Given the description of an element on the screen output the (x, y) to click on. 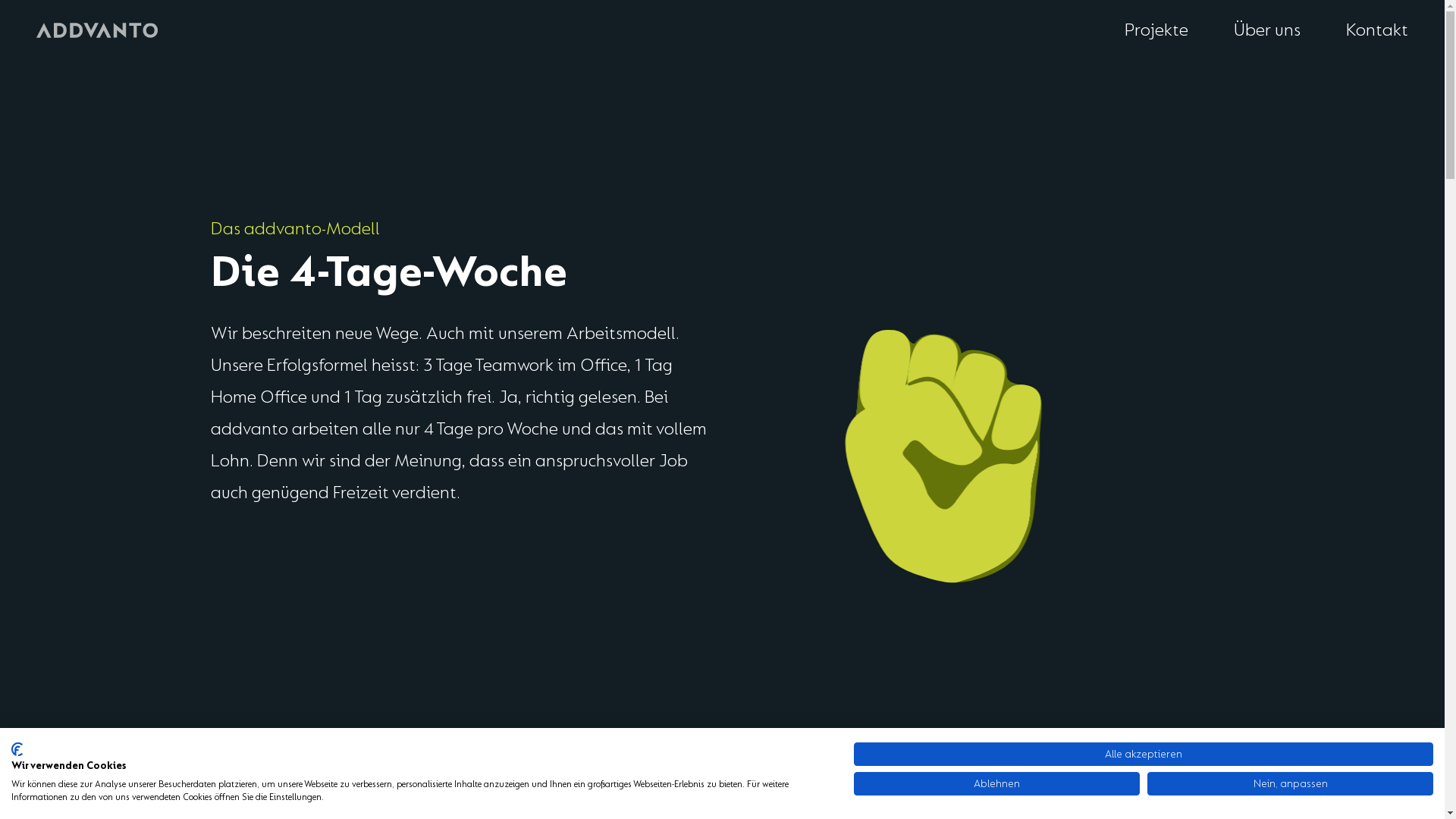
Ablehnen Element type: text (996, 783)
Nein, anpassen Element type: text (1290, 783)
Kontakt Element type: text (1377, 30)
Projekte Element type: text (1156, 30)
Alle akzeptieren Element type: text (1143, 753)
